Given the description of an element on the screen output the (x, y) to click on. 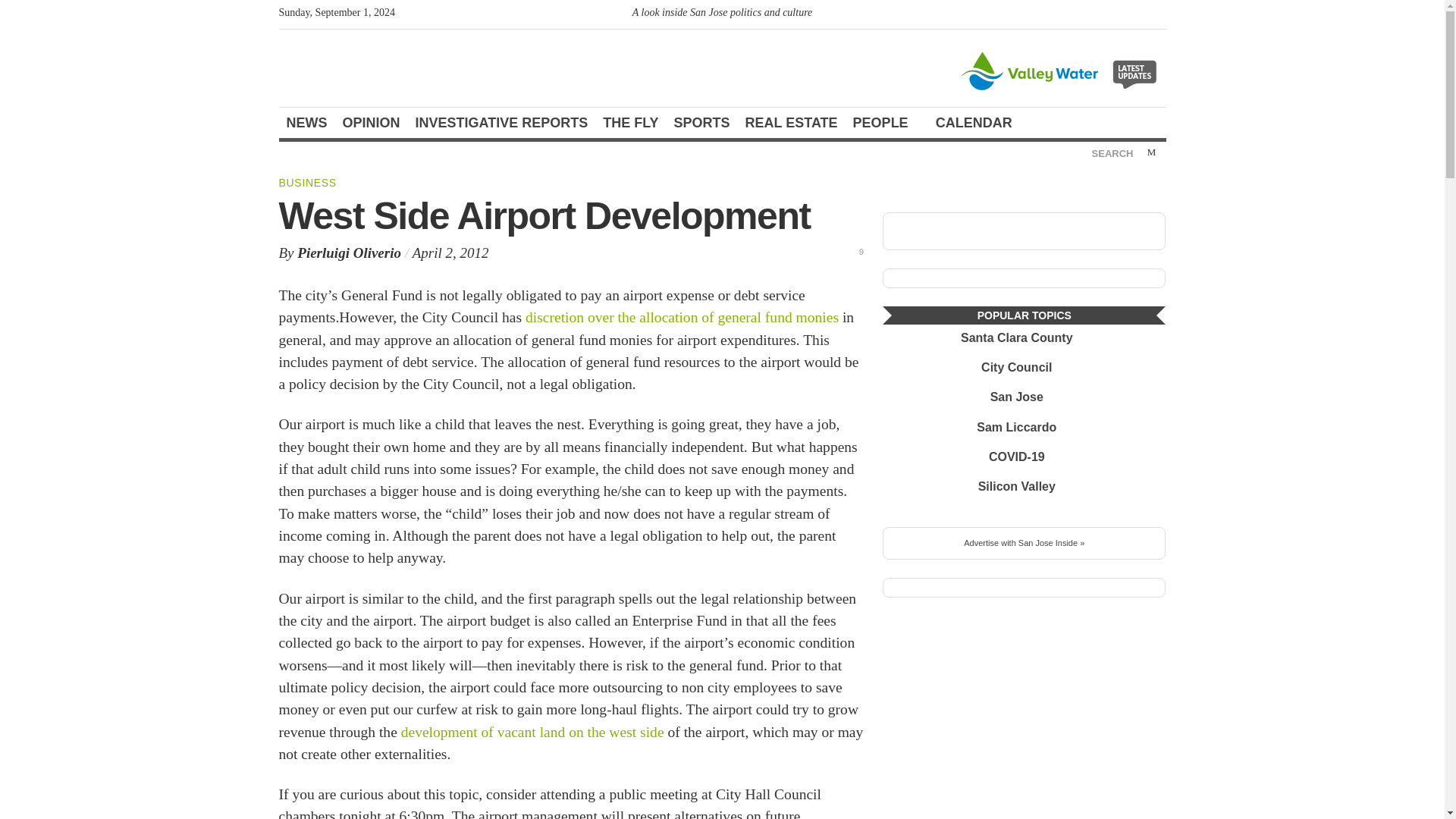
Investigative Reports (501, 122)
NEWS (306, 122)
Posts by Pierluigi Oliverio (349, 252)
News (306, 122)
News from Valley Water (1061, 69)
The Fly (630, 122)
San Jose Inside on Twitter (1130, 14)
Opinion (370, 122)
San Jose Inside on Facebook (1152, 14)
SPORTS (702, 122)
